Given the description of an element on the screen output the (x, y) to click on. 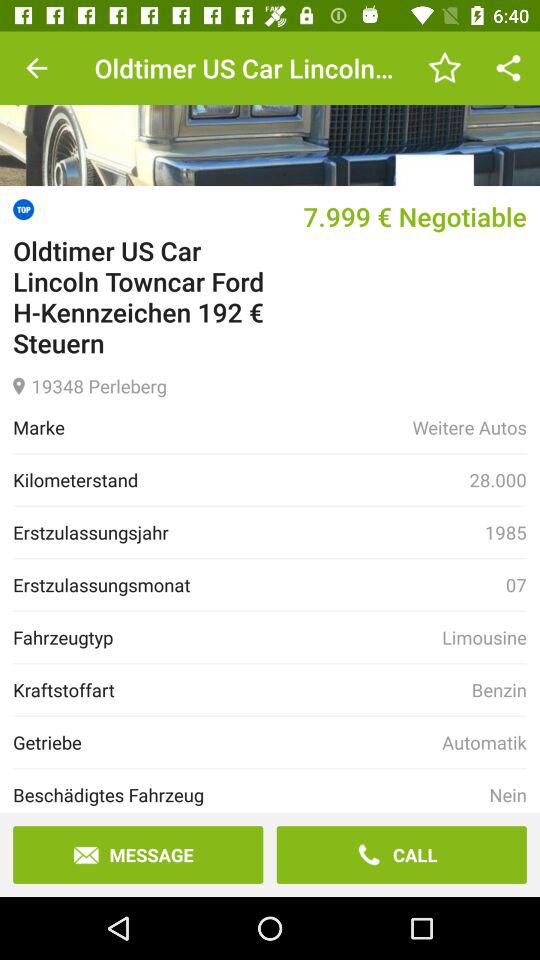
view photo of item (270, 108)
